Given the description of an element on the screen output the (x, y) to click on. 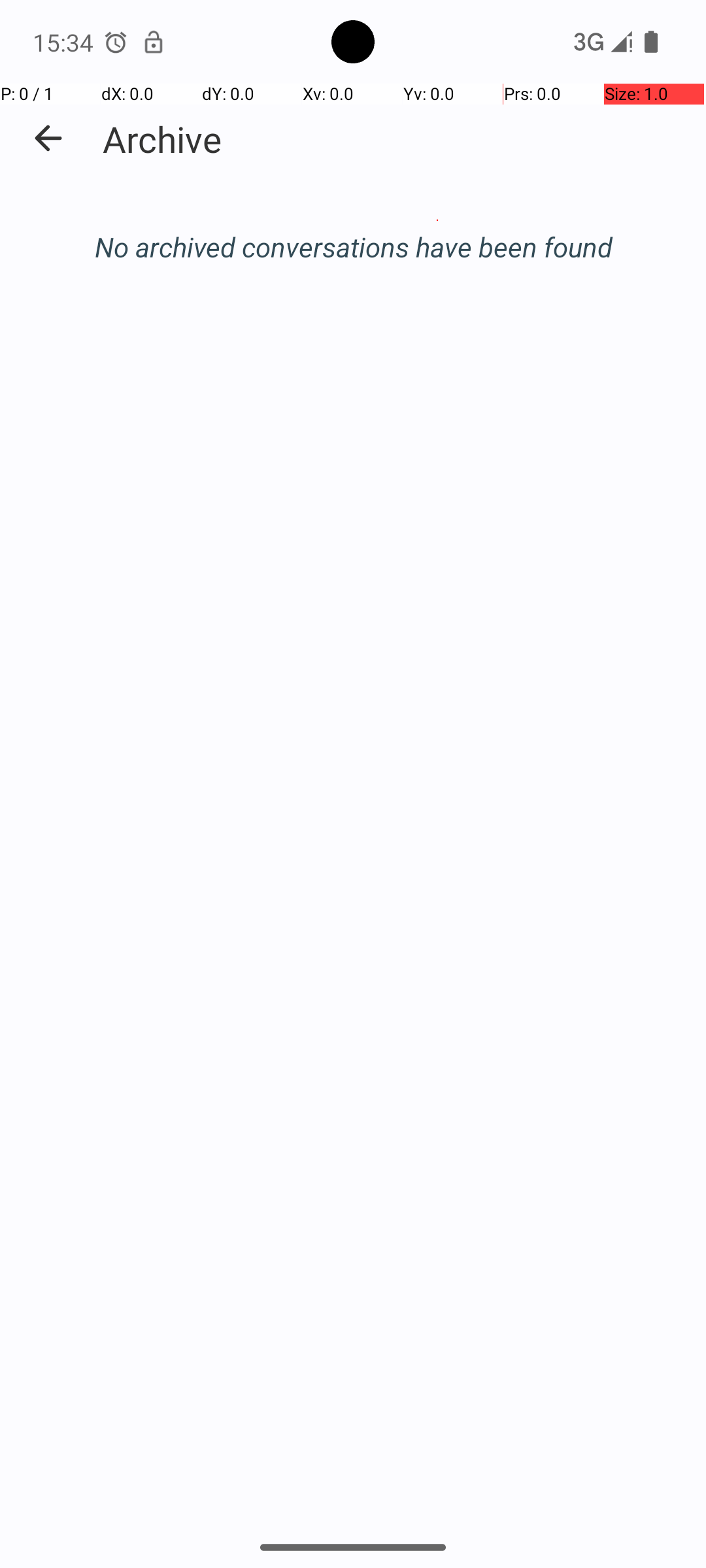
No archived conversations have been found Element type: android.widget.TextView (353, 246)
